Given the description of an element on the screen output the (x, y) to click on. 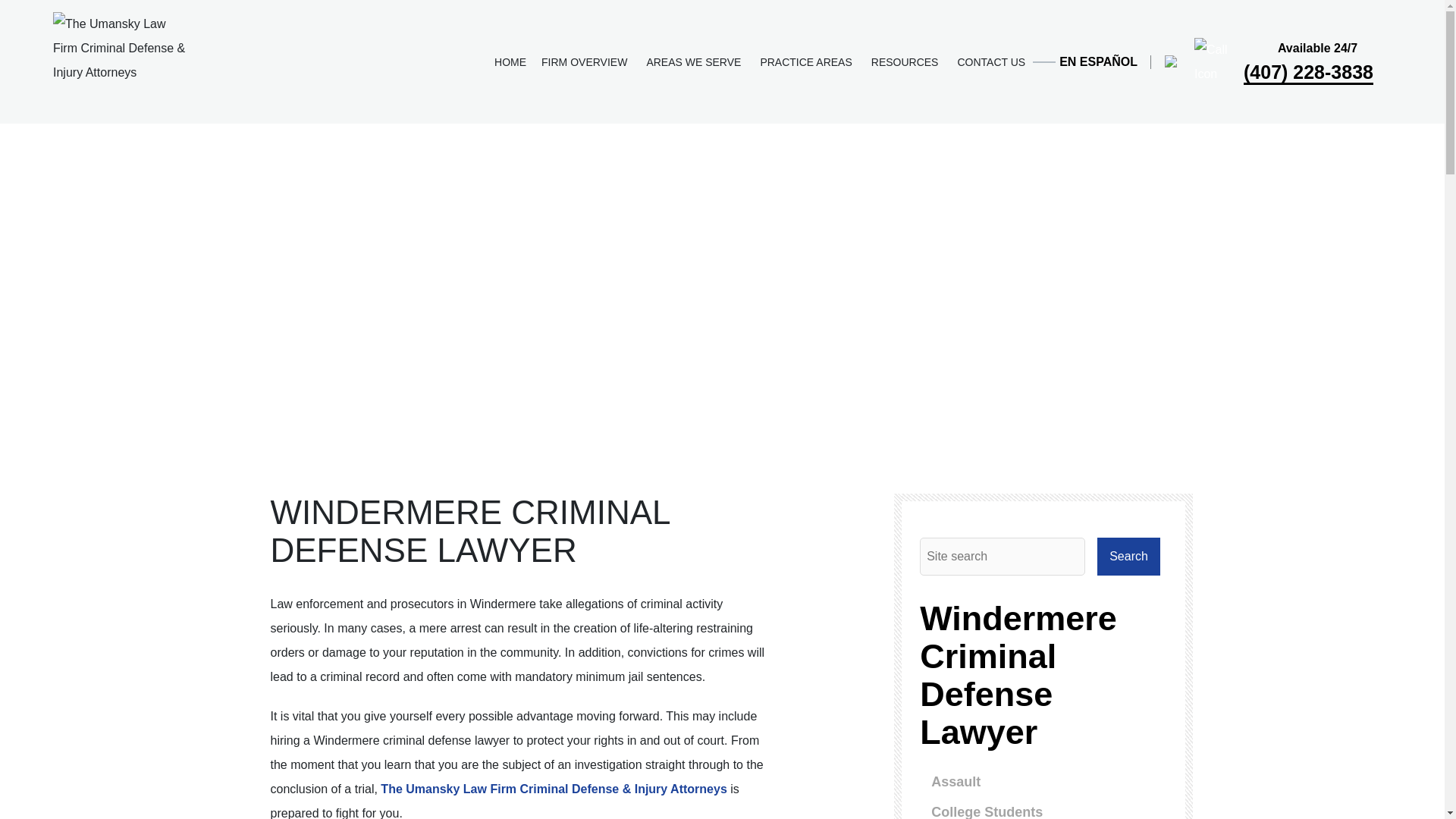
HOME (510, 61)
Search (1128, 556)
Search (1128, 556)
FIRM OVERVIEW (586, 61)
AREAS WE SERVE (695, 61)
